Given the description of an element on the screen output the (x, y) to click on. 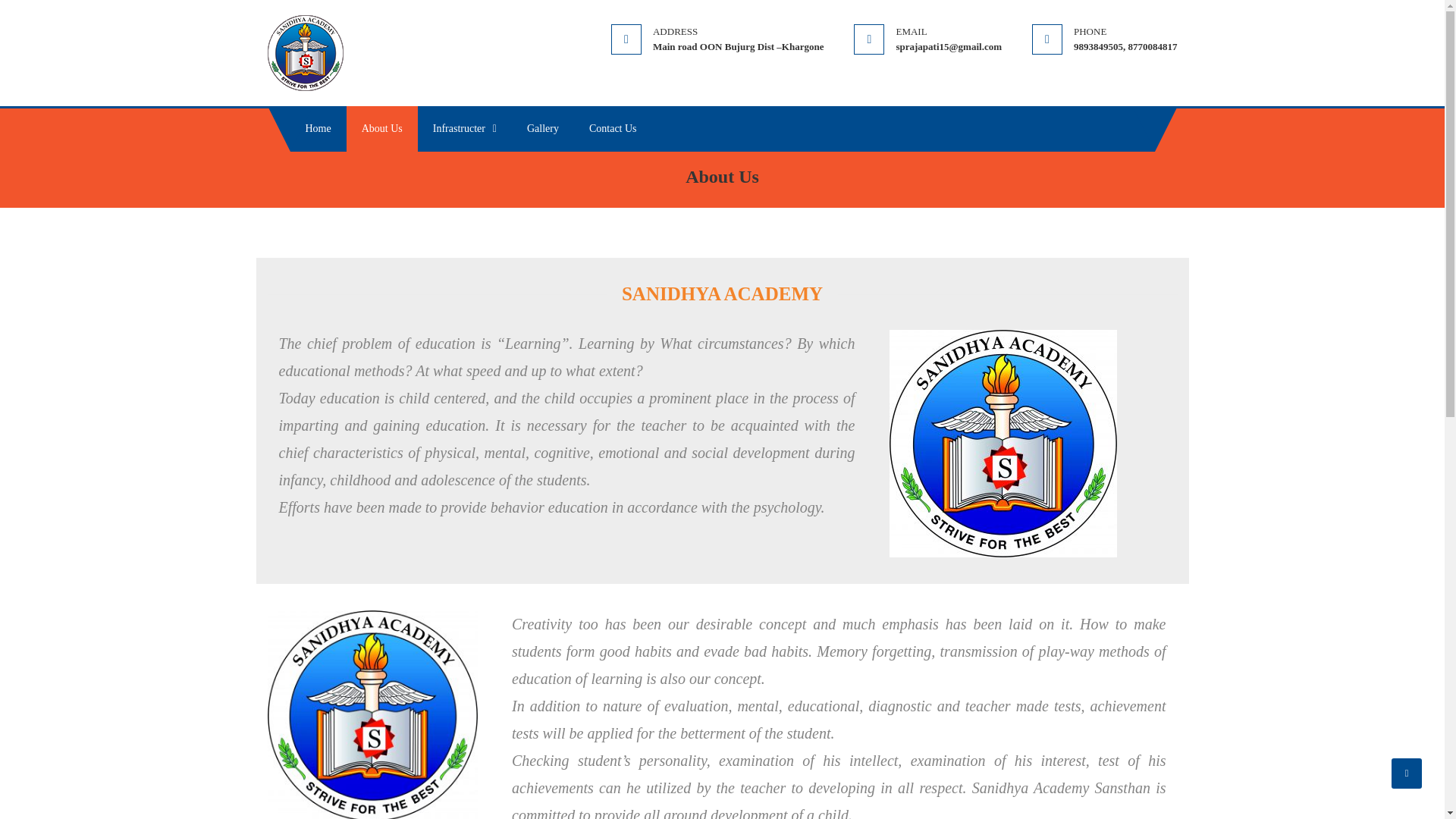
Home (317, 128)
Contact Us (612, 128)
Gallery (542, 128)
Infrastructer (464, 128)
About Us (381, 128)
